Given the description of an element on the screen output the (x, y) to click on. 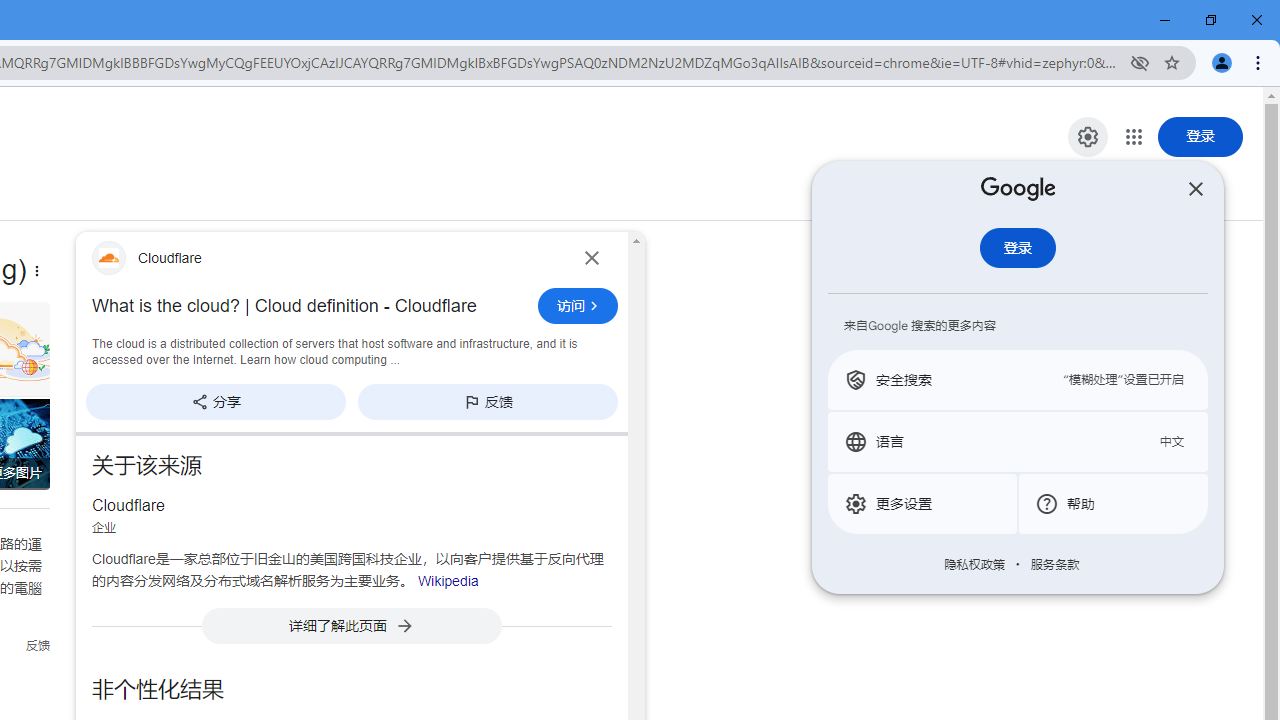
Wikipedia (447, 580)
Cloudflare (326, 257)
